Given the description of an element on the screen output the (x, y) to click on. 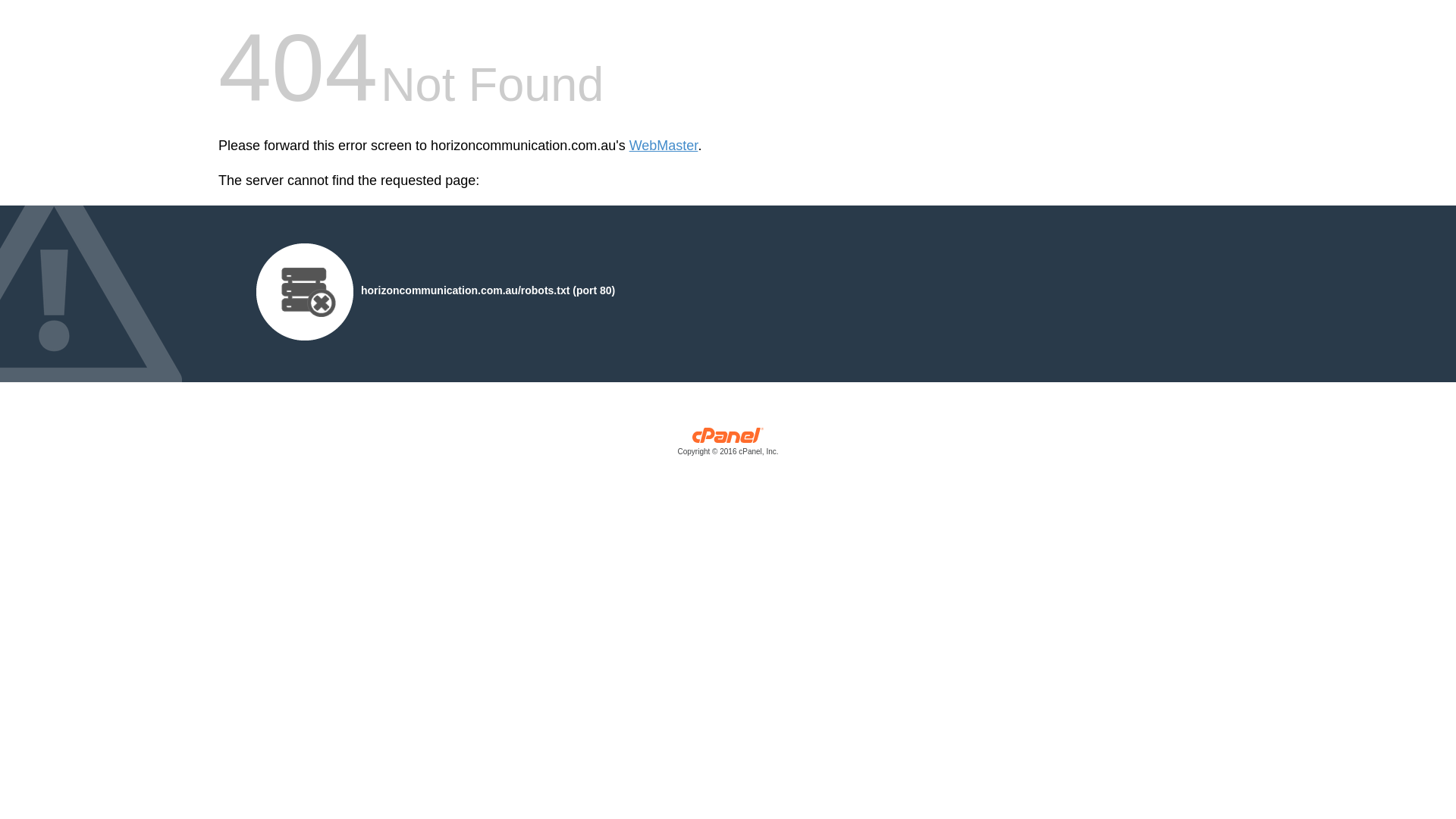
WebMaster Element type: text (663, 145)
